Given the description of an element on the screen output the (x, y) to click on. 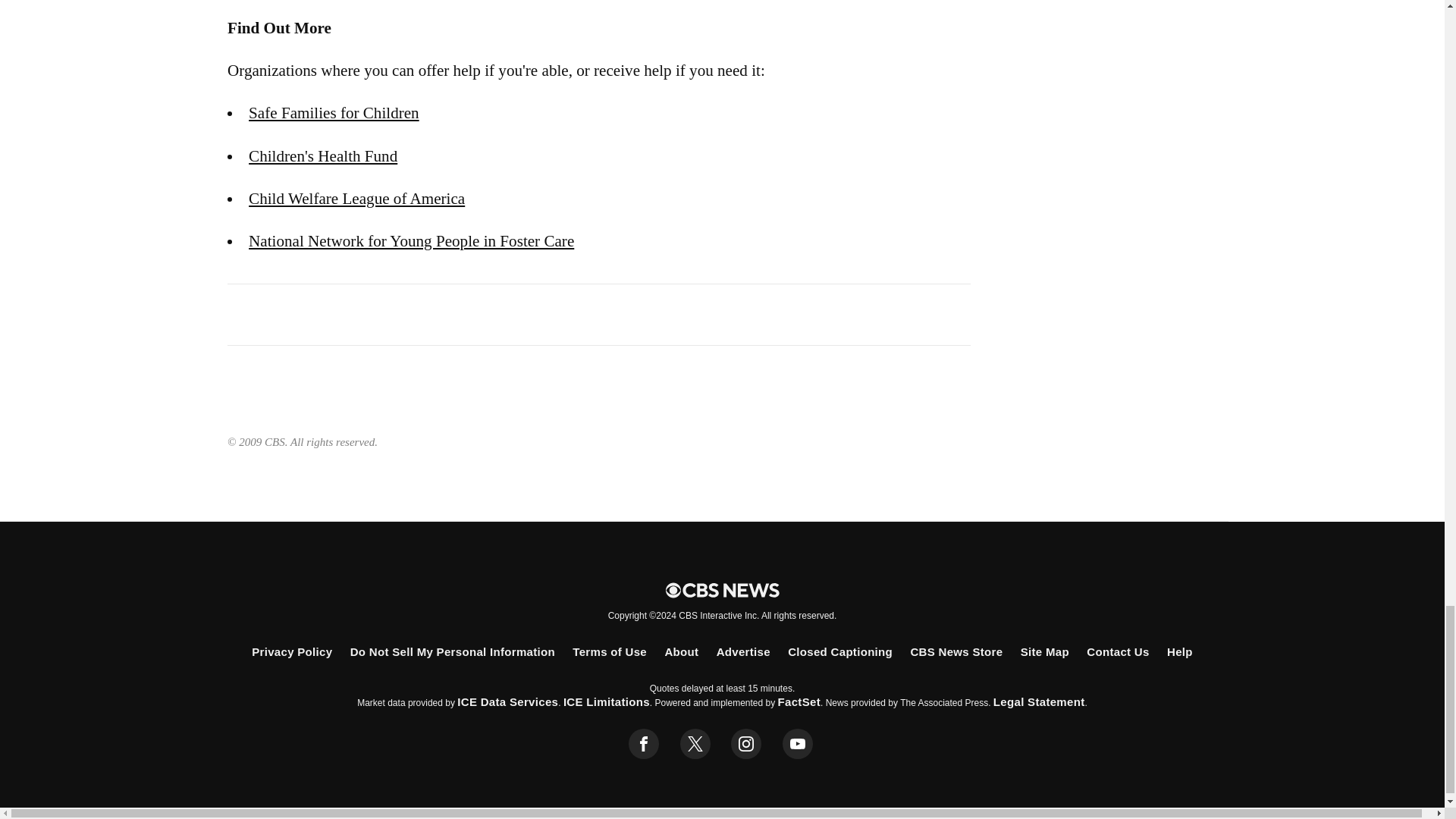
youtube (797, 743)
twitter (694, 743)
facebook (643, 743)
instagram (745, 743)
